Given the description of an element on the screen output the (x, y) to click on. 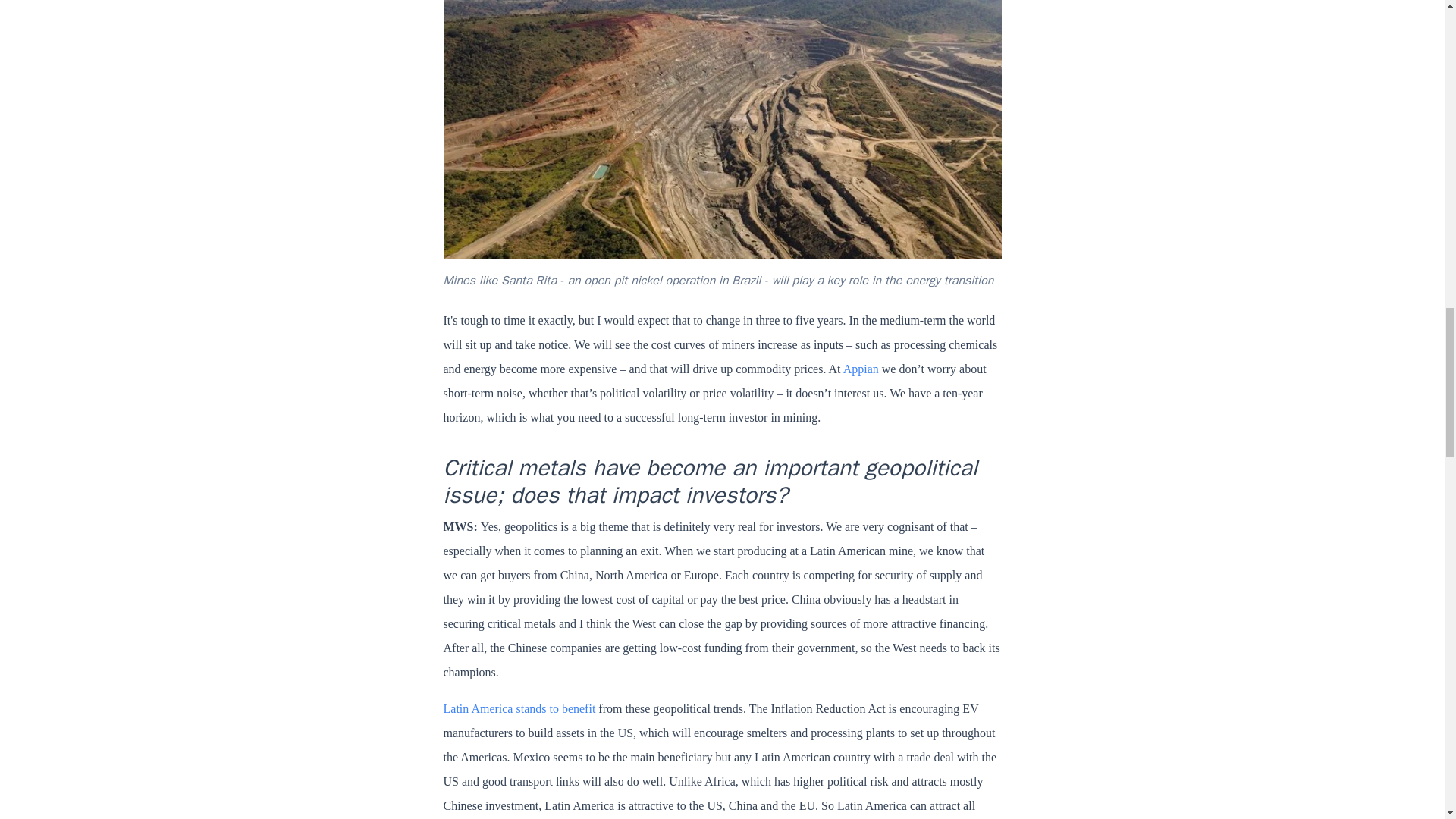
Appian (861, 368)
Latin America stands to benefit (518, 707)
